Given the description of an element on the screen output the (x, y) to click on. 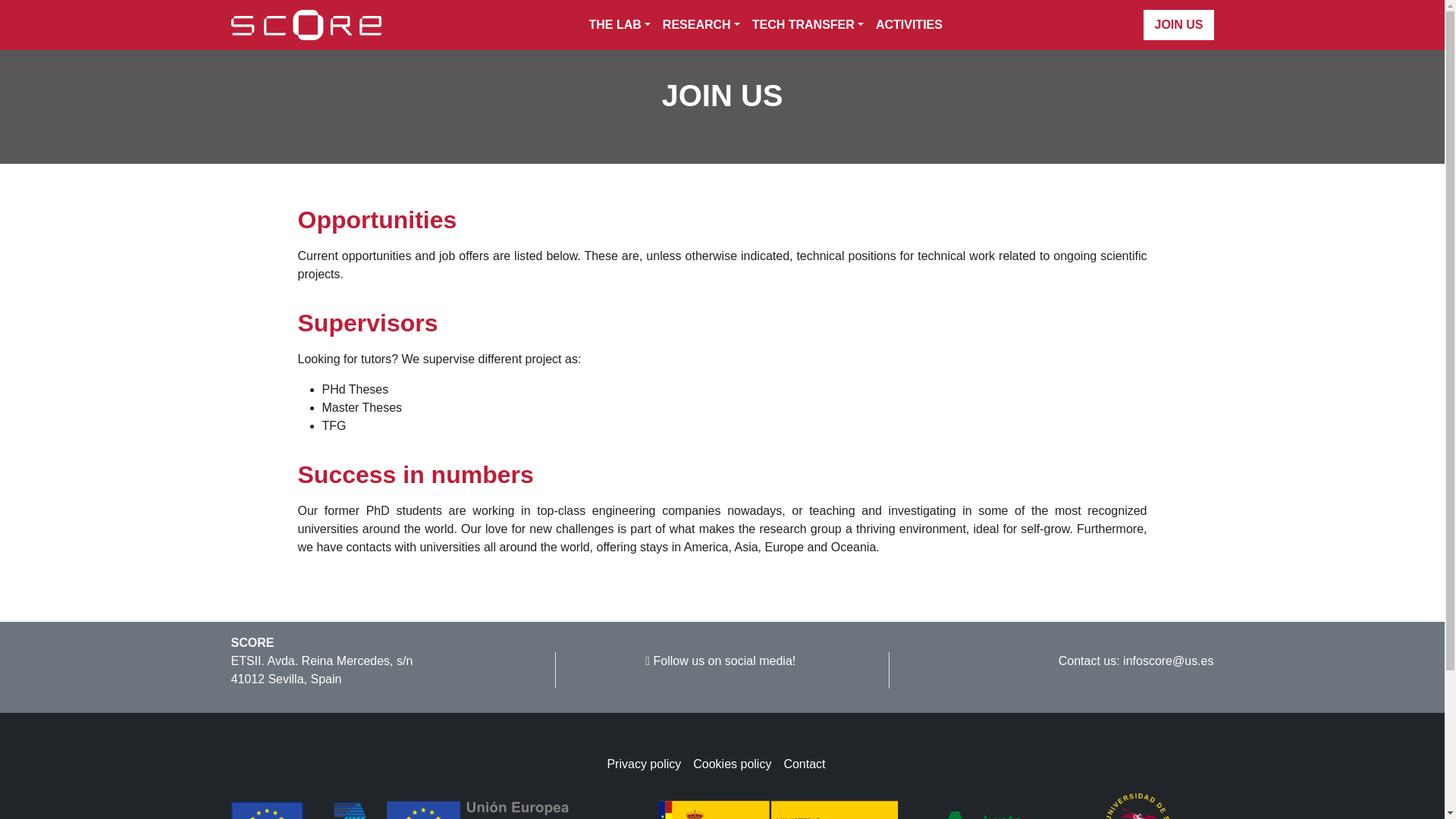
Contact (810, 764)
JOIN US (1177, 24)
Privacy policy (650, 764)
THE LAB (619, 24)
ACTIVITIES (905, 24)
Cookies policy (738, 764)
TECH TRANSFER (807, 24)
Follow us on social media!  (721, 660)
RESEARCH (700, 24)
